Given the description of an element on the screen output the (x, y) to click on. 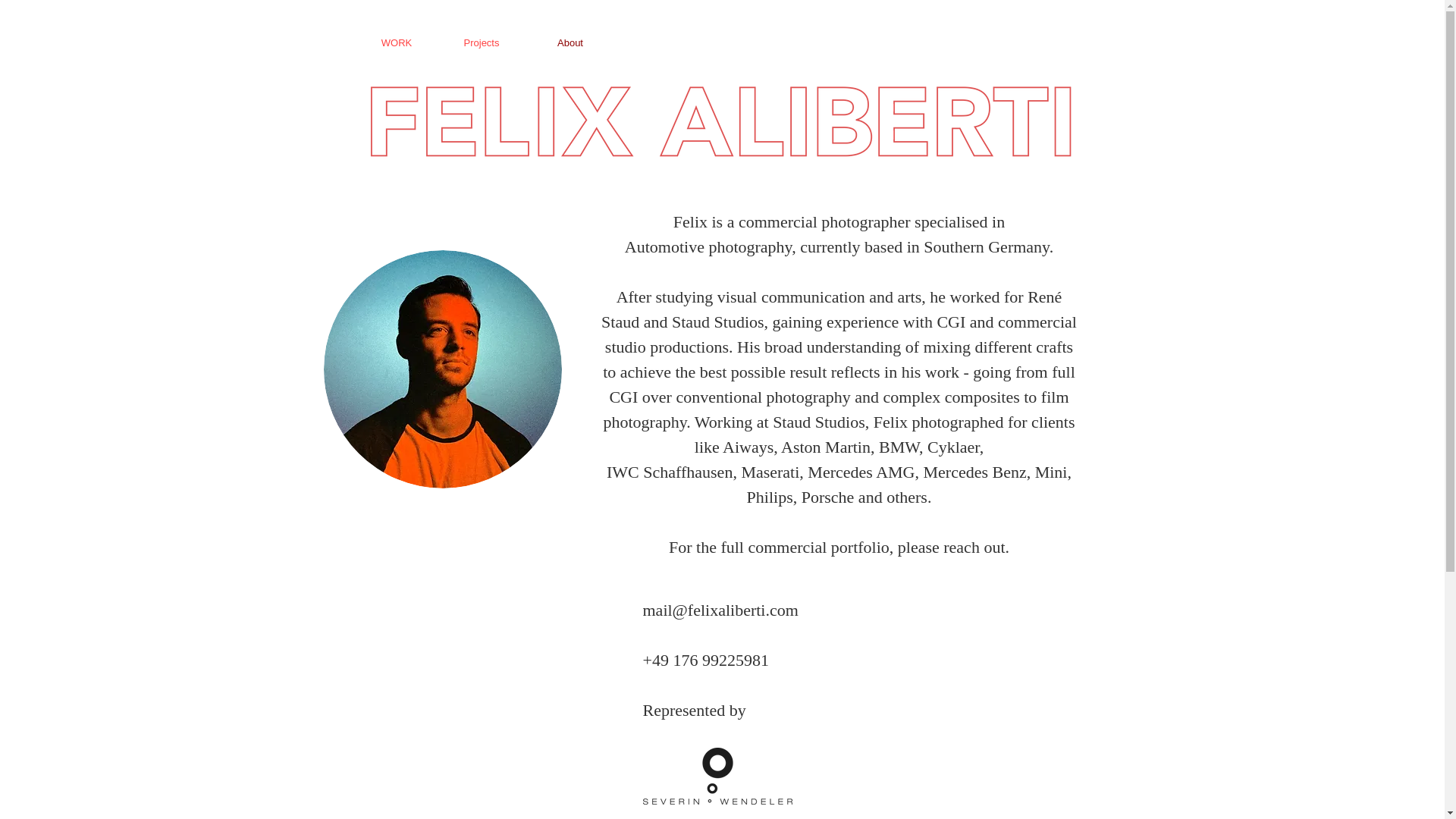
WORK (395, 42)
About (569, 42)
Projects (481, 42)
